Given the description of an element on the screen output the (x, y) to click on. 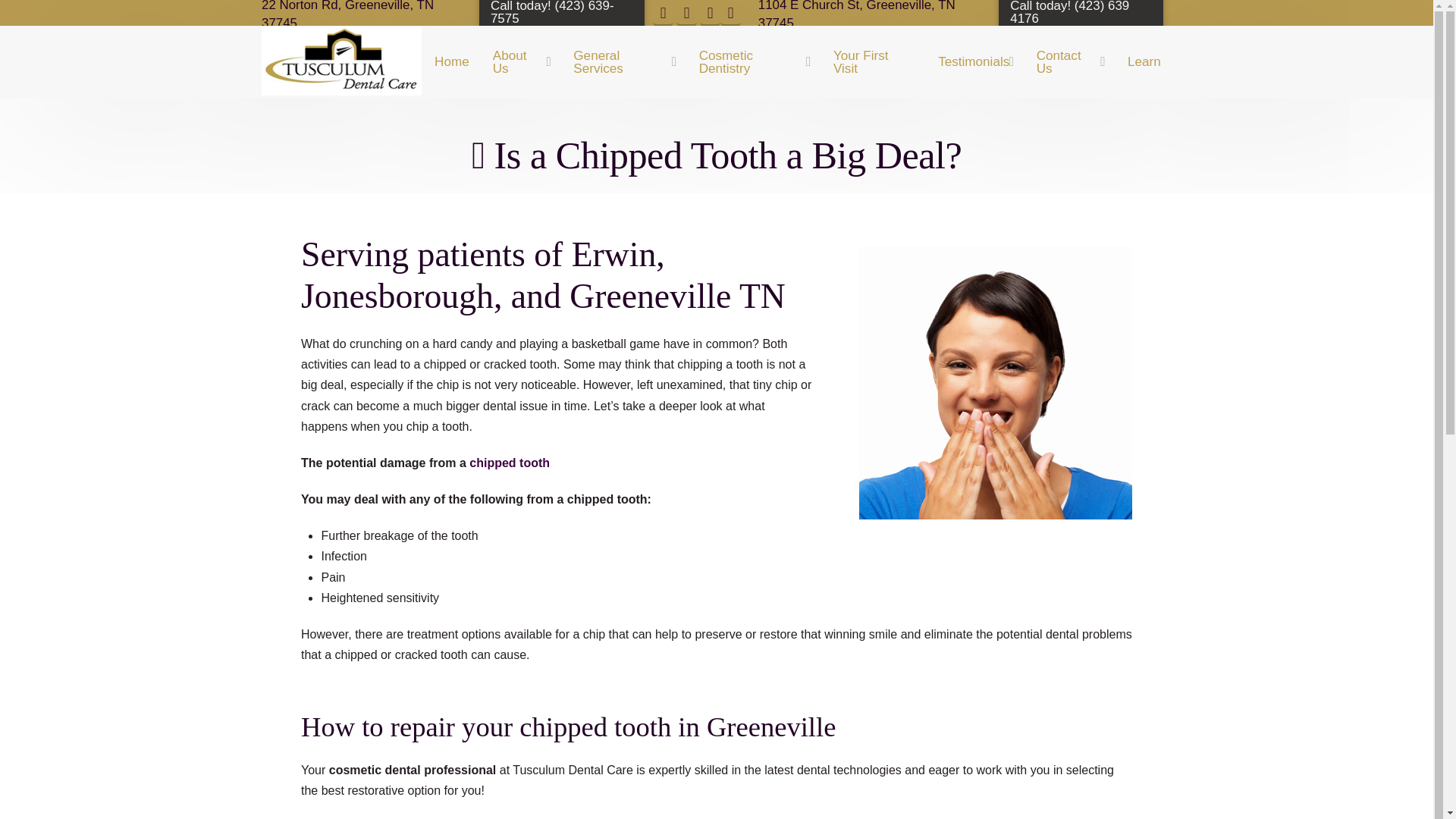
About Us (520, 61)
General Services (622, 61)
Cosmetic Dentistry (753, 61)
